Given the description of an element on the screen output the (x, y) to click on. 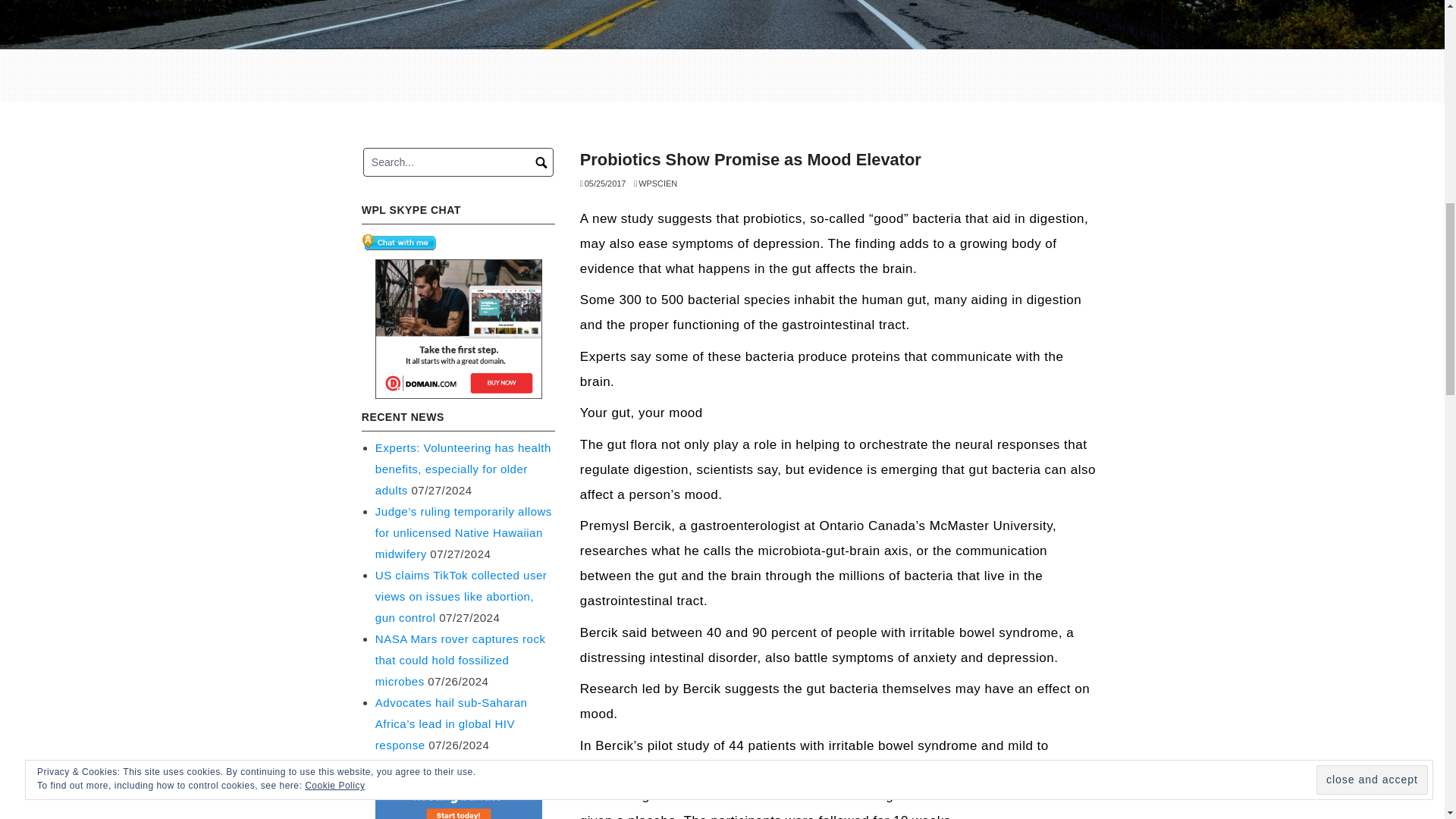
Search for: (457, 162)
WPSCIEN (655, 183)
